Given the description of an element on the screen output the (x, y) to click on. 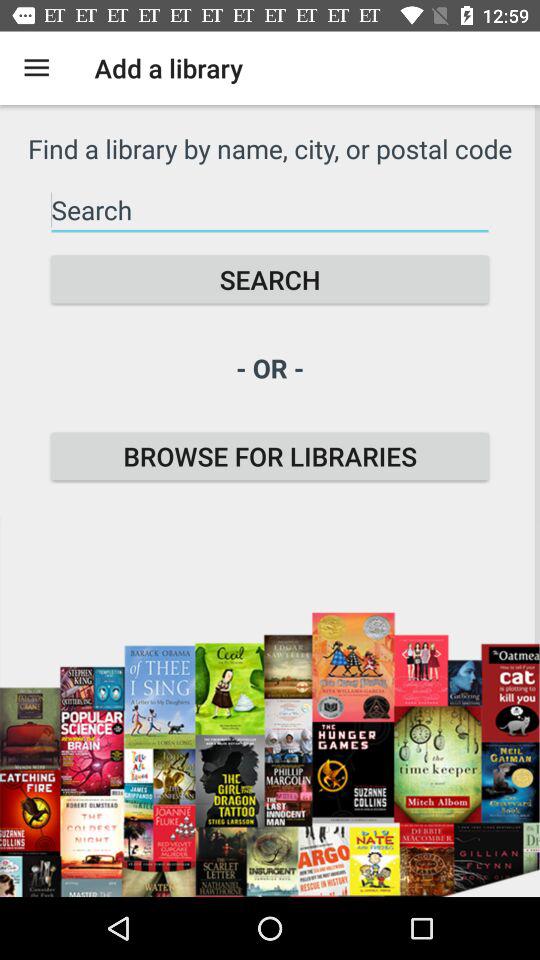
launch the item below - or - item (269, 455)
